Given the description of an element on the screen output the (x, y) to click on. 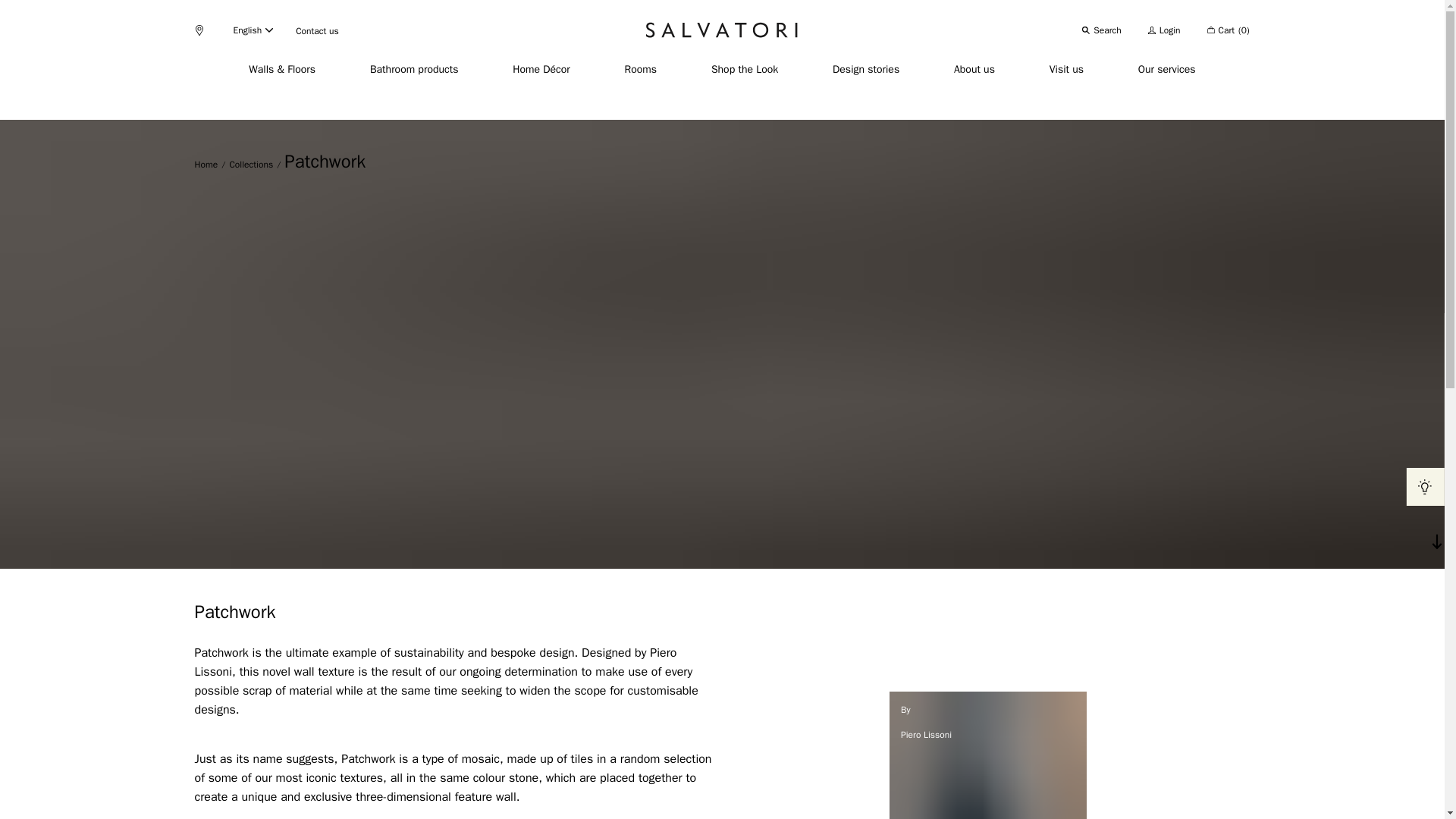
Design stories (865, 69)
Bathroom products (413, 69)
Search (1101, 29)
Rooms (641, 69)
About us (973, 69)
Login (1164, 29)
English (252, 29)
Contact us (317, 30)
Visit us (1066, 69)
Shop the Look (744, 69)
